Given the description of an element on the screen output the (x, y) to click on. 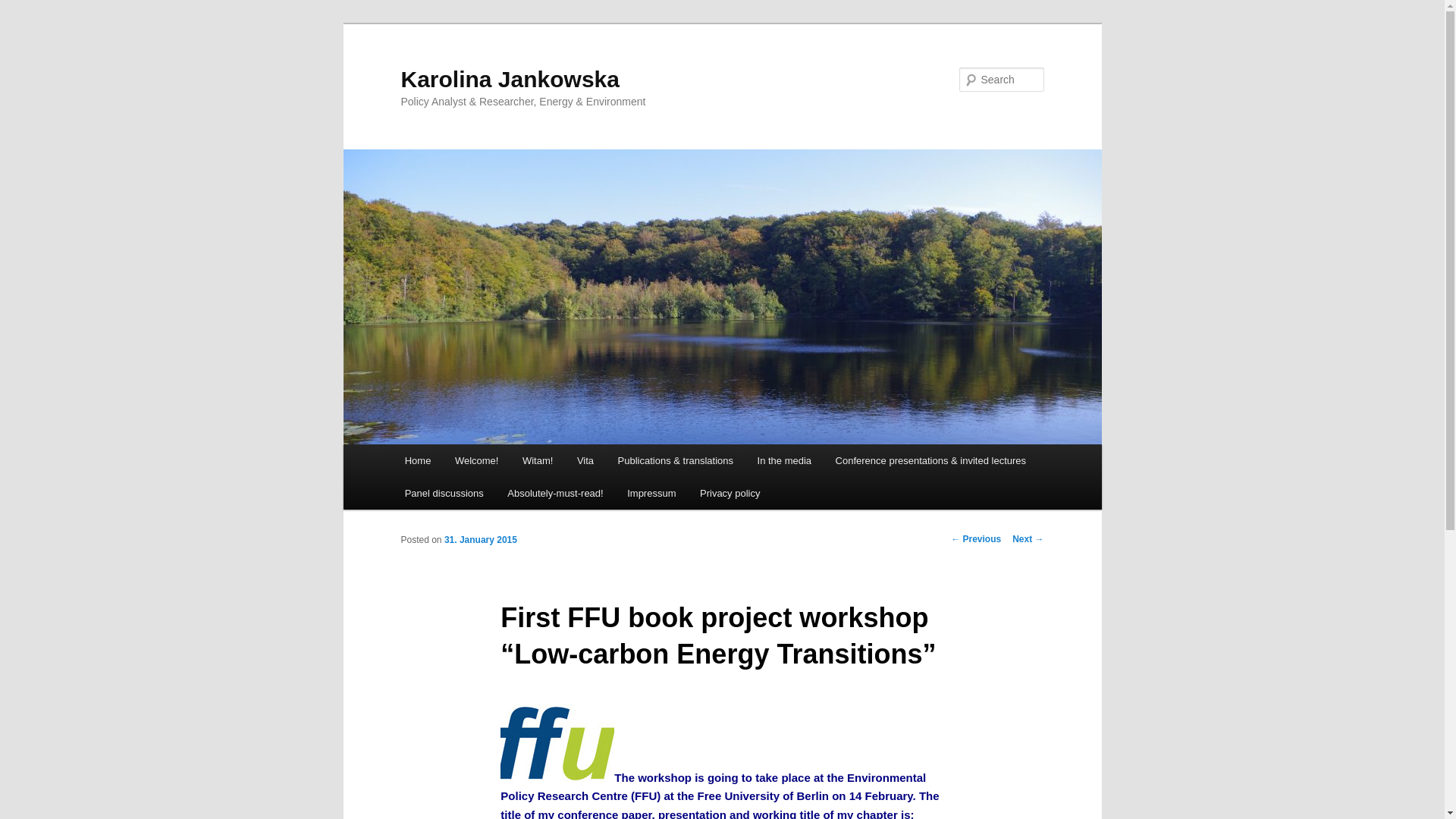
Privacy policy (729, 492)
Witam! (537, 460)
Welcome! (476, 460)
Home (417, 460)
Impressum (650, 492)
Vita (584, 460)
Karolina Jankowska (509, 78)
Absolutely-must-read! (555, 492)
In the media (784, 460)
31. January 2015 (480, 539)
Panel discussions (444, 492)
Search (24, 8)
14:37 (480, 539)
